Given the description of an element on the screen output the (x, y) to click on. 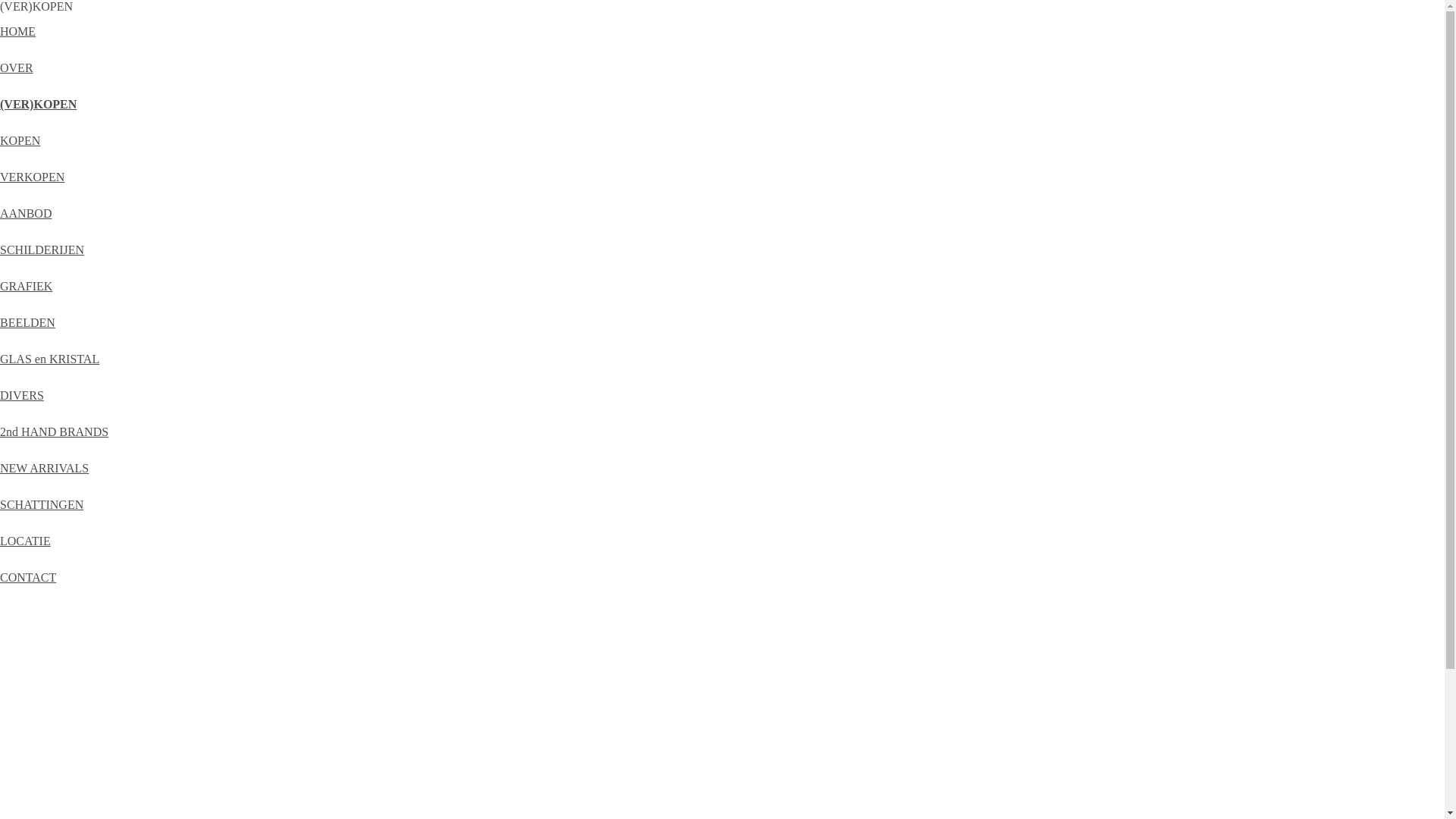
KOPEN Element type: text (20, 140)
HOME Element type: text (17, 31)
LOCATIE Element type: text (25, 540)
SCHATTINGEN Element type: text (41, 504)
2nd HAND BRANDS Element type: text (54, 431)
CONTACT Element type: text (28, 577)
GLAS en KRISTAL Element type: text (49, 358)
BEELDEN Element type: text (27, 322)
NEW ARRIVALS Element type: text (44, 467)
(VER)KOPEN Element type: text (38, 103)
VERKOPEN Element type: text (32, 176)
GRAFIEK Element type: text (26, 285)
AANBOD Element type: text (25, 213)
OVER Element type: text (16, 67)
SCHILDERIJEN Element type: text (42, 249)
DIVERS Element type: text (21, 395)
